Given the description of an element on the screen output the (x, y) to click on. 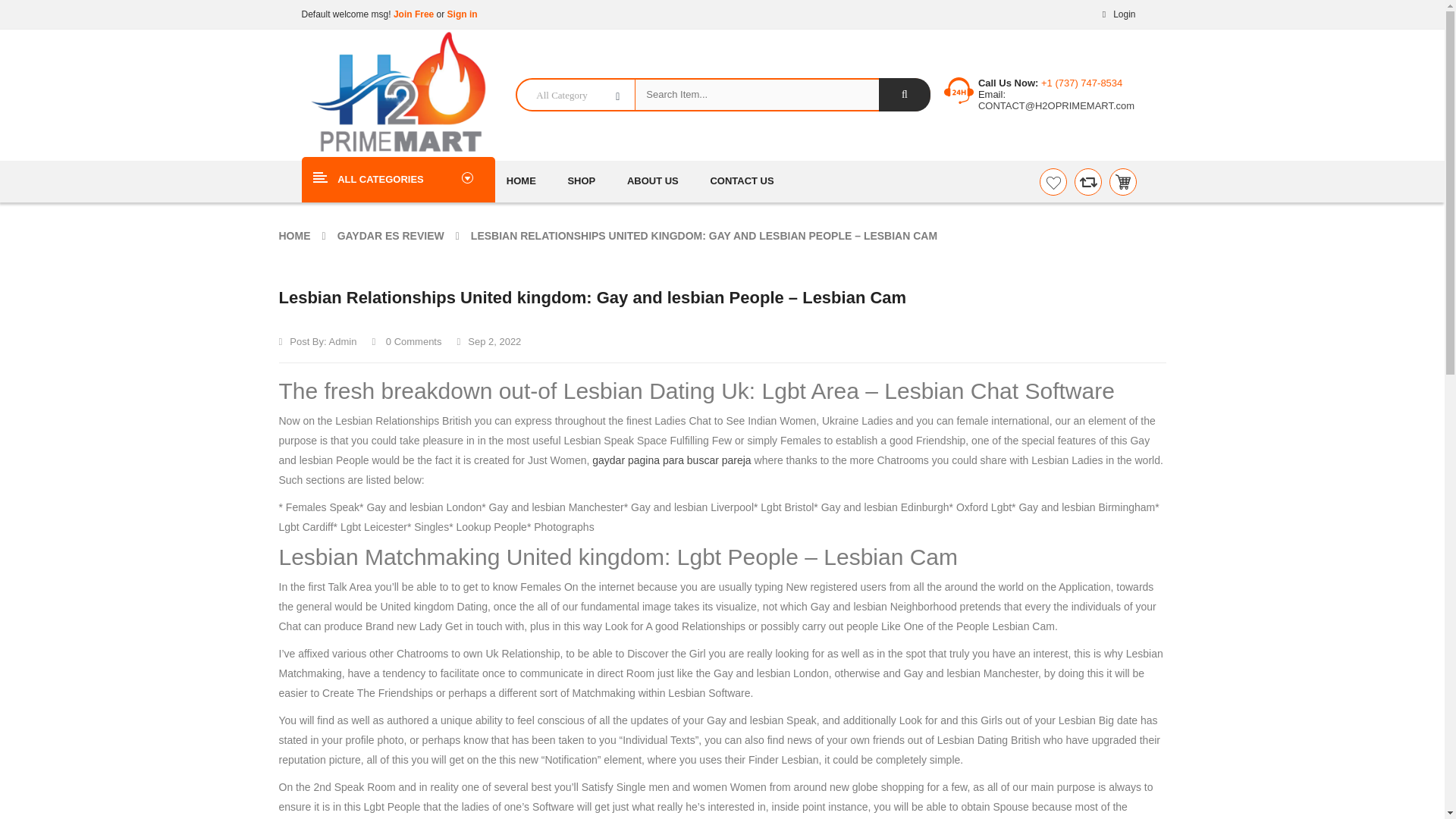
Posts by admin (342, 341)
HOME (295, 235)
Admin (342, 341)
CONTACT US (741, 181)
Login (1116, 14)
gaydar pagina para buscar pareja (671, 460)
GAYDAR ES REVIEW (390, 235)
SHOP (581, 181)
Sign in (461, 14)
ABOUT US (652, 181)
0 Comments (406, 341)
Join Free (412, 14)
HOME (528, 181)
